Given the description of an element on the screen output the (x, y) to click on. 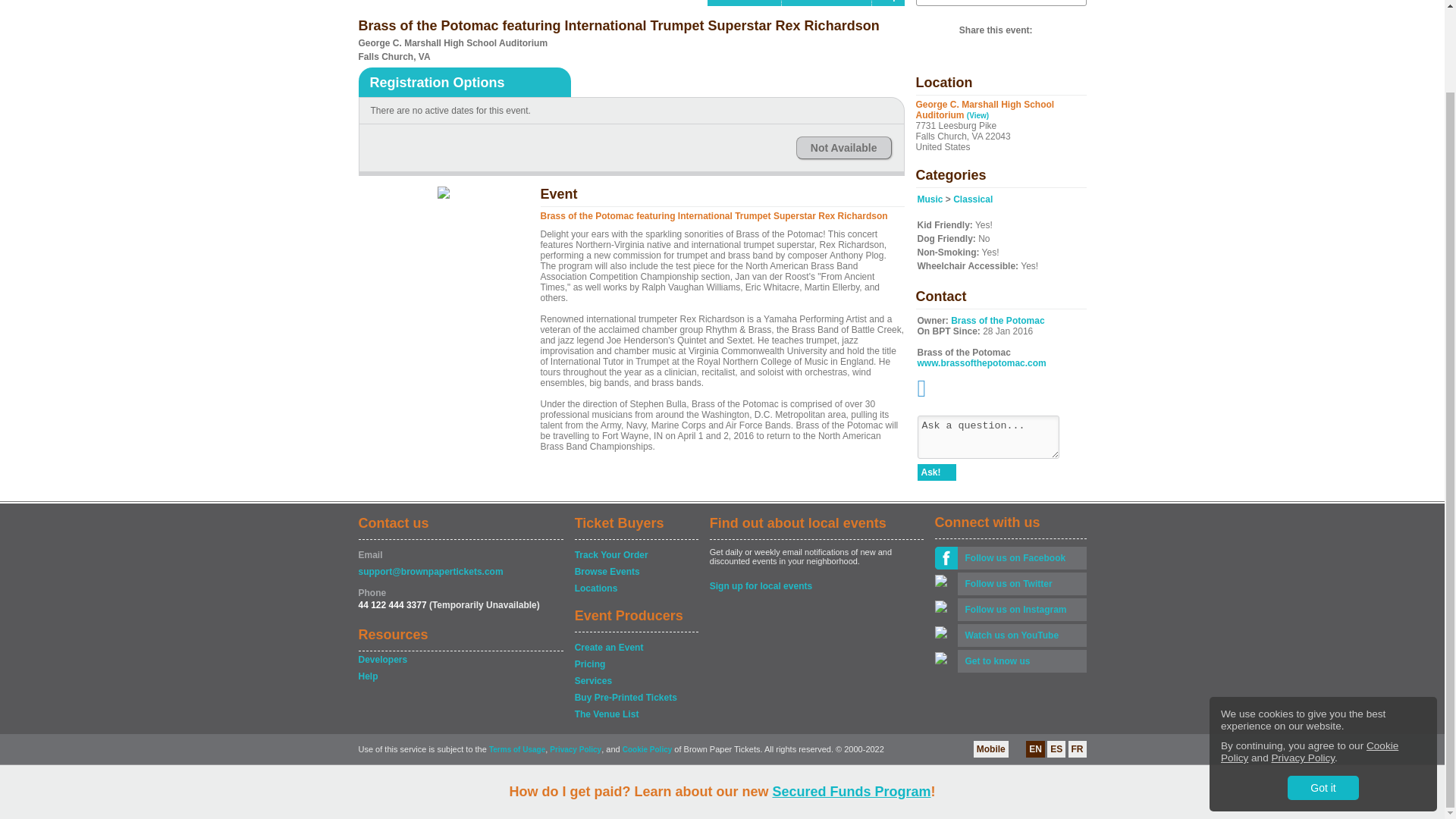
Developers (460, 659)
Locations (636, 588)
Search events... (984, 0)
Not Available (843, 147)
www.brassofthepotomac.com (981, 362)
Find An Event (743, 2)
Track Your Order (636, 554)
Pricing (636, 663)
Got it (1322, 695)
Help (460, 676)
